Given the description of an element on the screen output the (x, y) to click on. 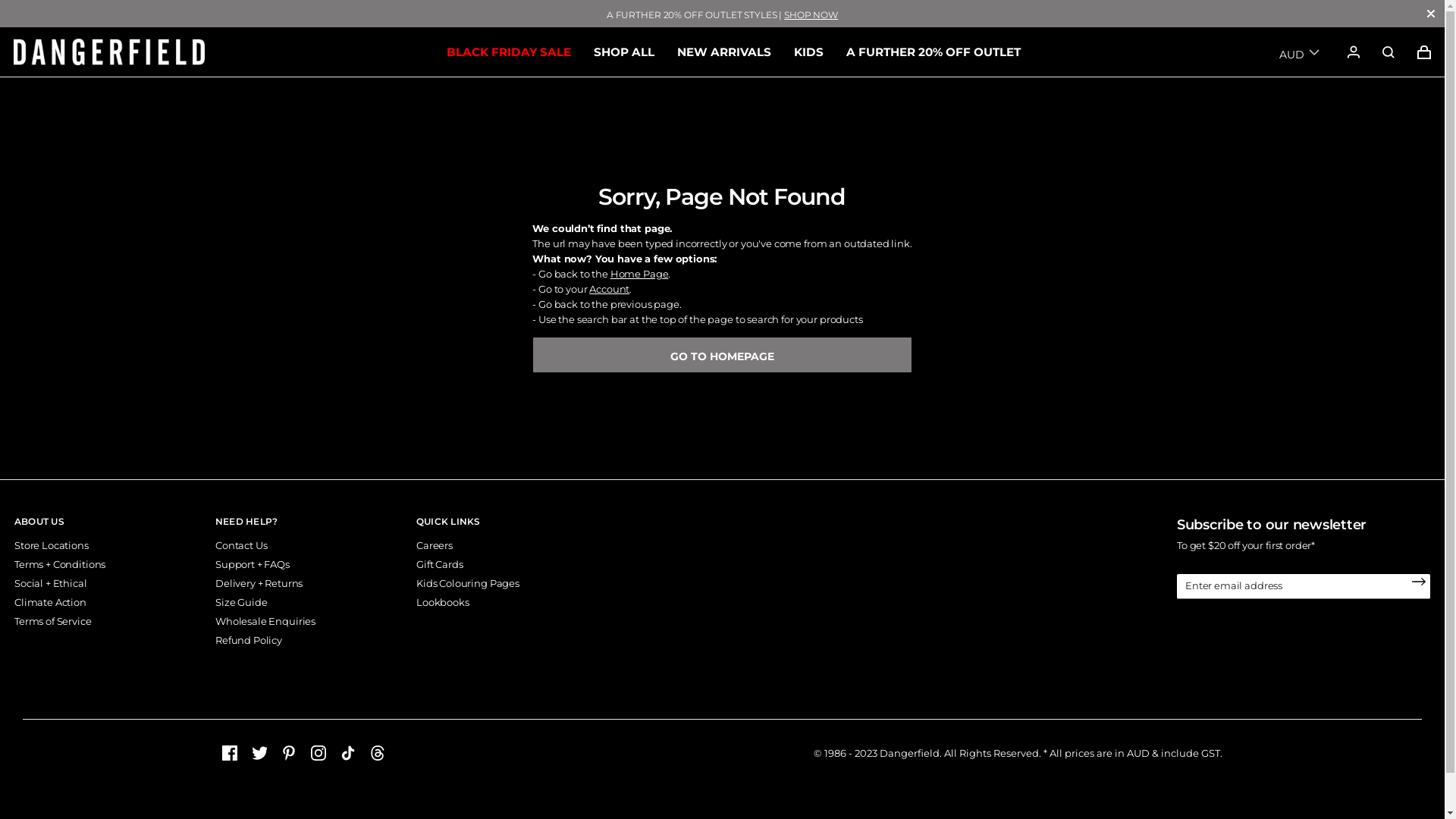
Store Locations Element type: text (51, 545)
Account Element type: text (609, 288)
GO TO HOMEPAGE Element type: text (721, 354)
Home Page Element type: text (639, 273)
Kids Colouring Pages Element type: text (467, 583)
Climate Action Element type: text (50, 602)
Careers Element type: text (434, 545)
Lookbooks Element type: text (442, 602)
Gift Cards Element type: text (439, 564)
Delivery + Returns Element type: text (258, 583)
Wholesale Enquiries Element type: text (265, 621)
Terms of Service Element type: text (52, 621)
value Element type: text (1388, 51)
Support + FAQs Element type: text (252, 564)
Social + Ethical Element type: text (50, 583)
NEW ARRIVALS Element type: text (723, 51)
SHOP NOW Element type: text (810, 14)
Contact Us Element type: text (241, 545)
SHOP ALL Element type: text (623, 51)
Size Guide Element type: text (241, 602)
KIDS Element type: text (807, 51)
A FURTHER 20% OFF OUTLET Element type: text (933, 51)
Terms + Conditions Element type: text (59, 564)
BLACK FRIDAY SALE Element type: text (507, 51)
Refund Policy Element type: text (248, 639)
